Given the description of an element on the screen output the (x, y) to click on. 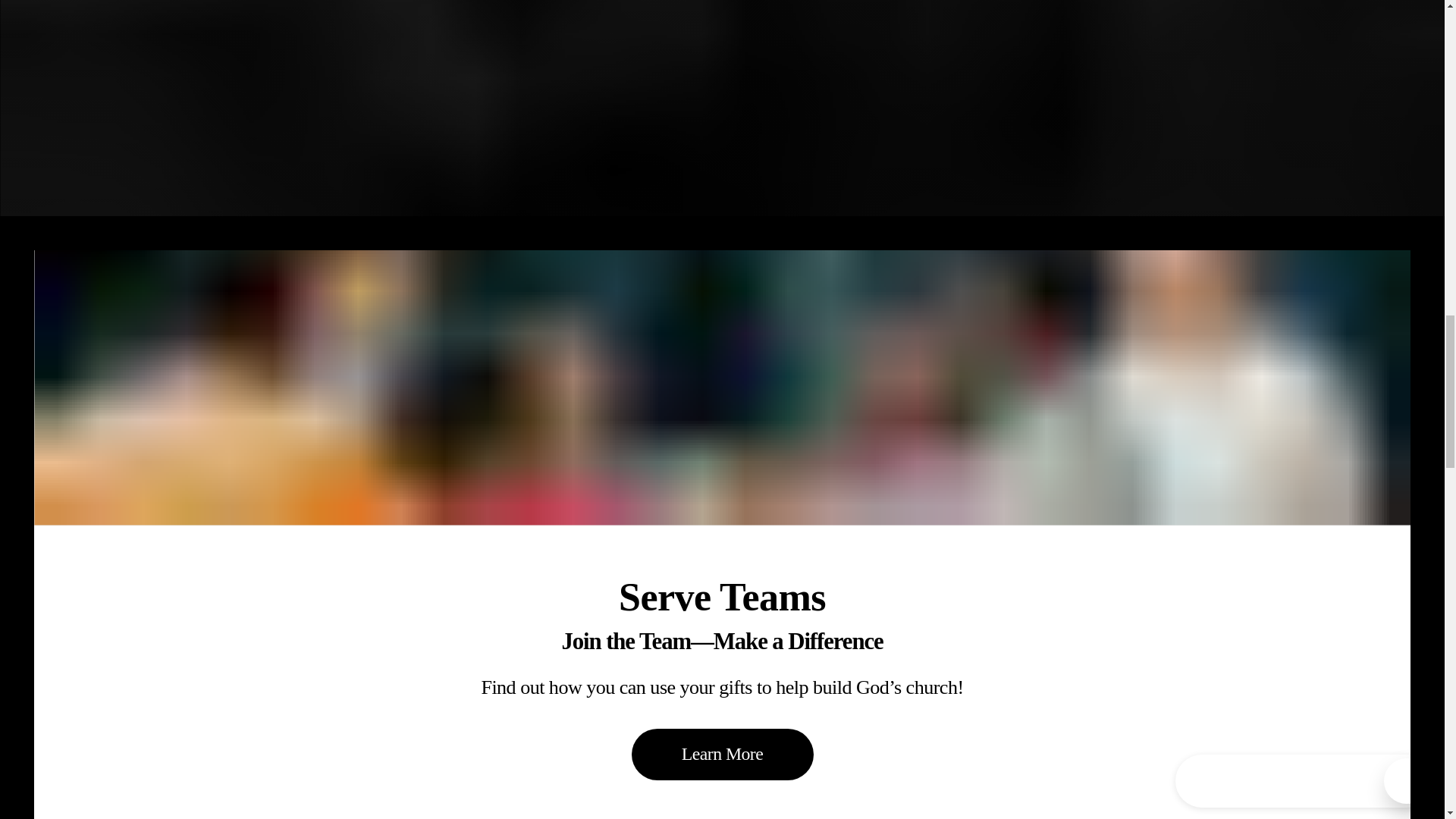
Learn More (721, 754)
